Given the description of an element on the screen output the (x, y) to click on. 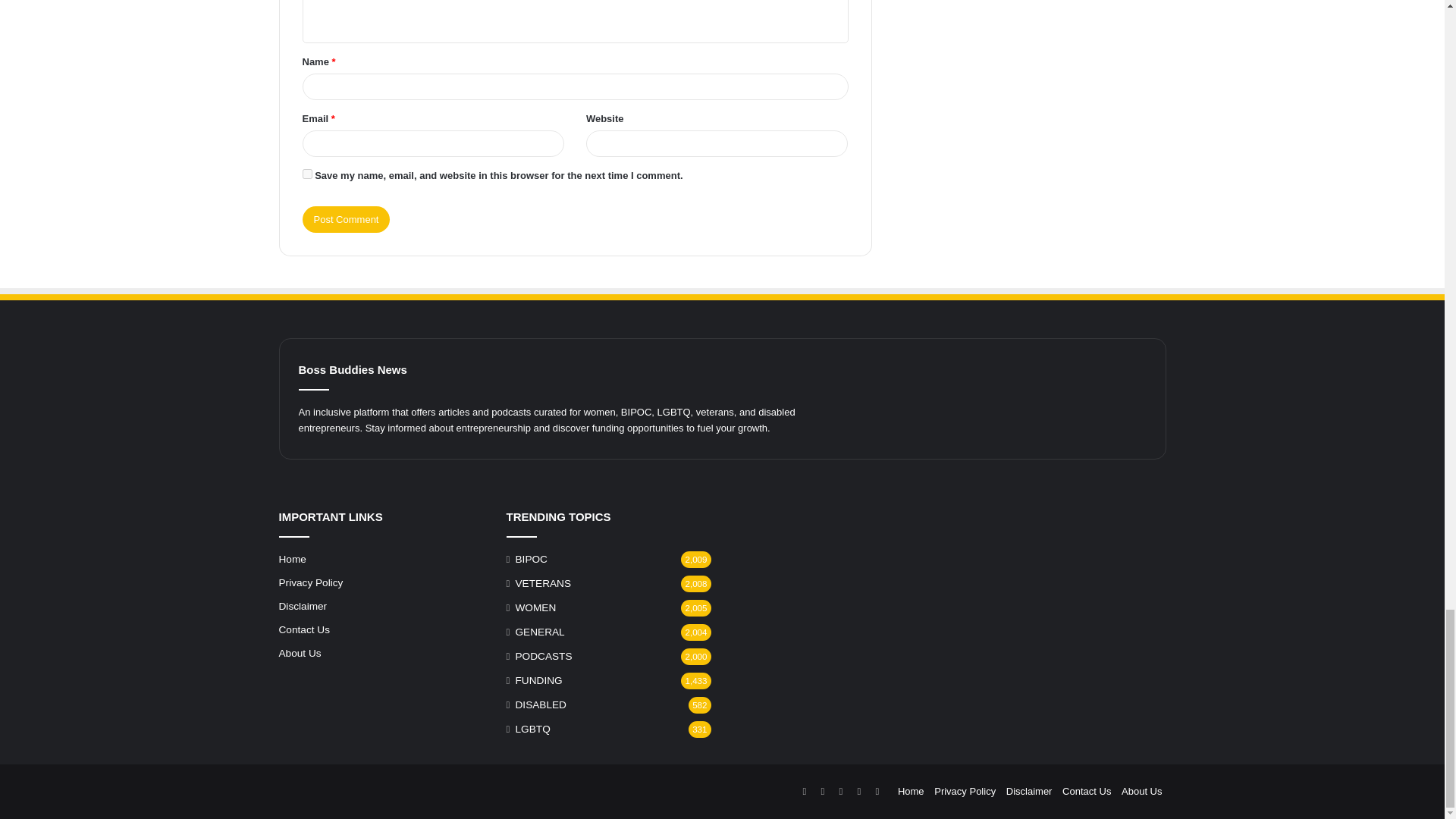
yes (306, 173)
Post Comment (345, 219)
